Given the description of an element on the screen output the (x, y) to click on. 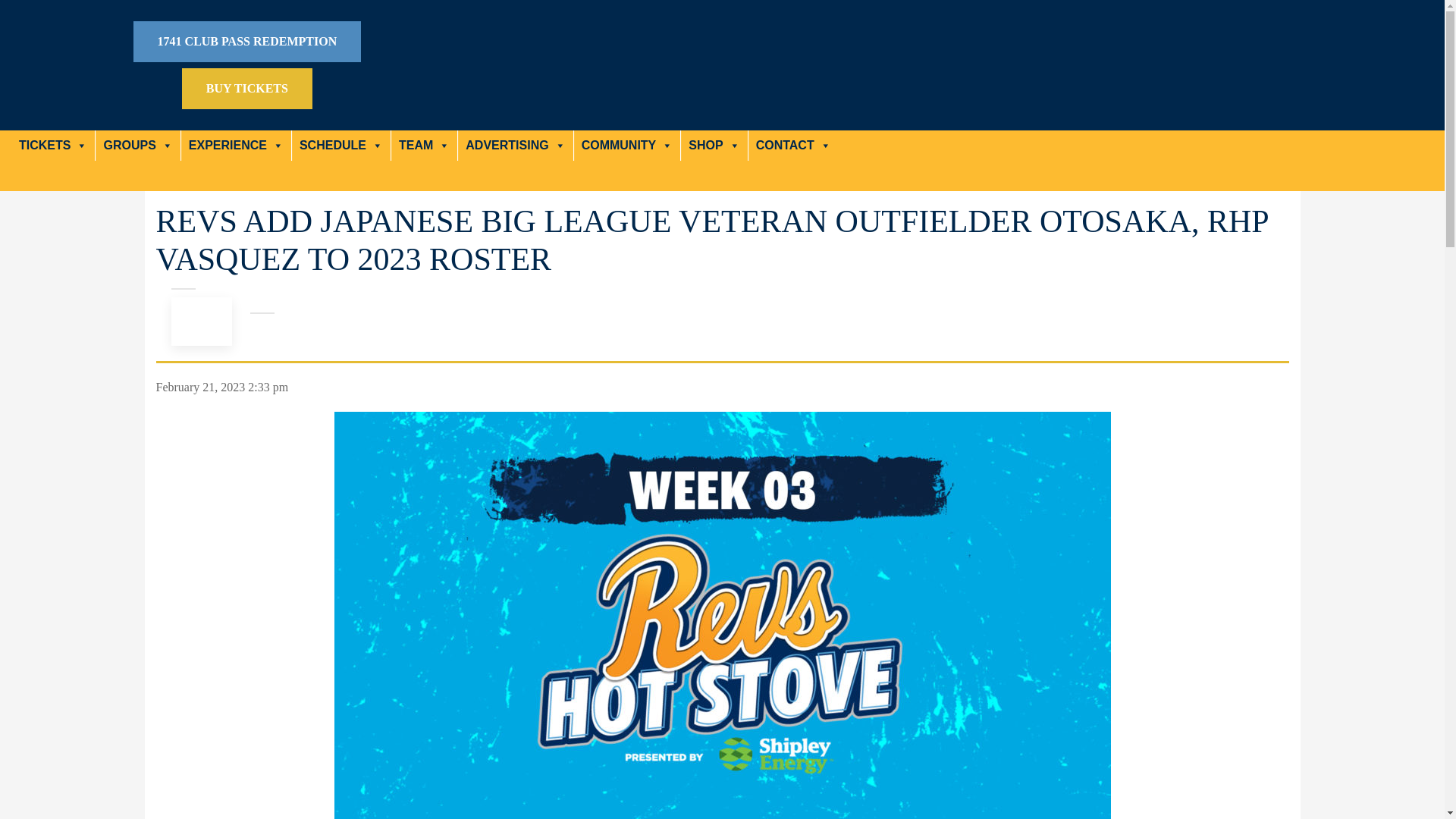
GROUPS (137, 145)
1741 CLUB PASS REDEMPTION (247, 41)
EXPERIENCE (235, 145)
TICKETS (52, 145)
BUY TICKETS (247, 87)
